Given the description of an element on the screen output the (x, y) to click on. 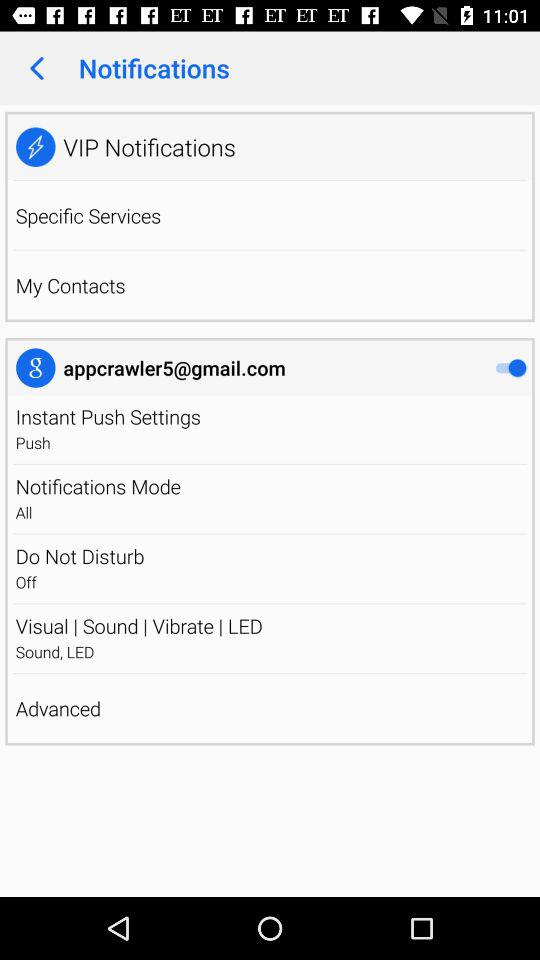
press icon below sound, led app (269, 673)
